Given the description of an element on the screen output the (x, y) to click on. 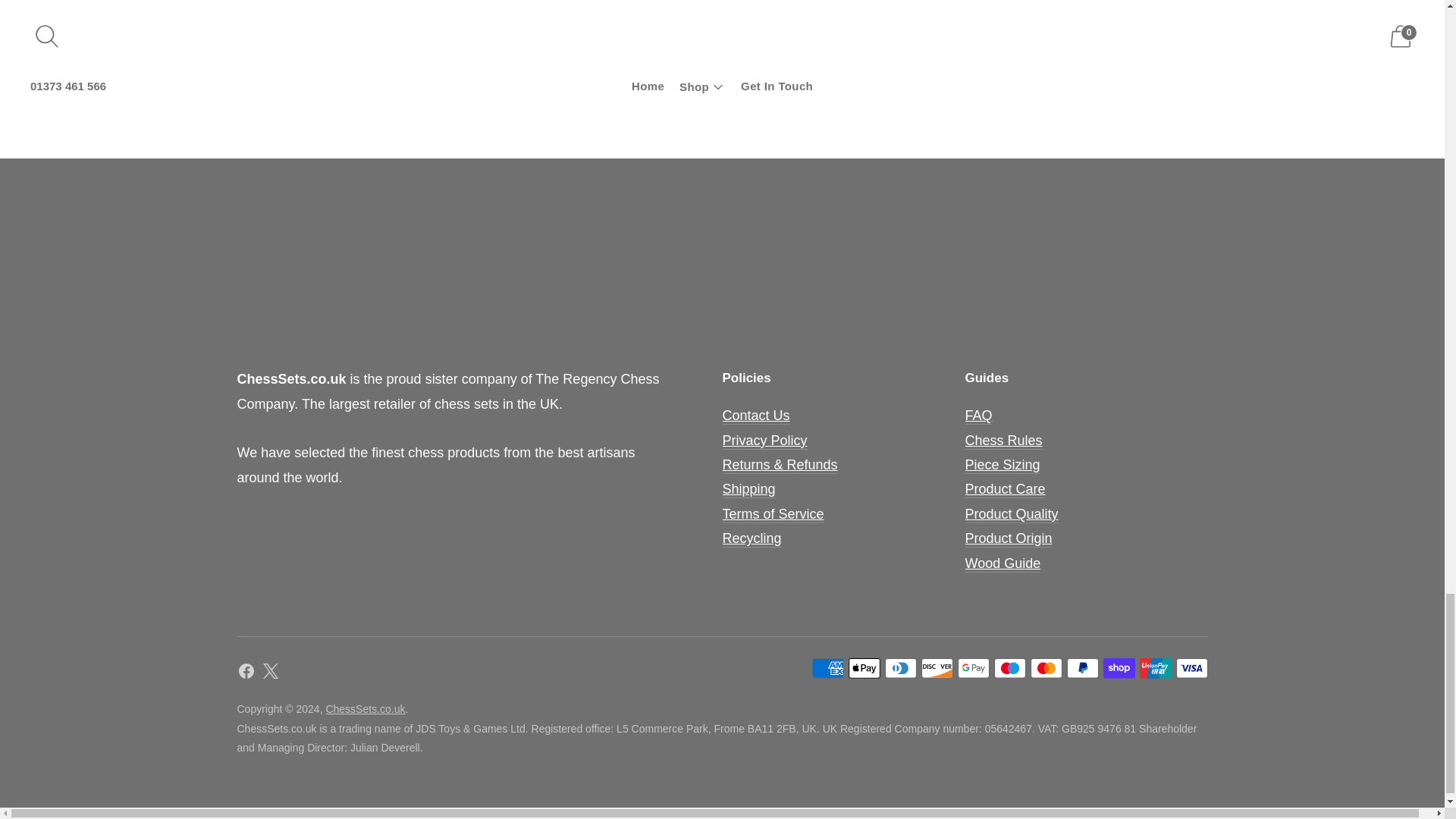
Visa (1190, 668)
Maestro (1008, 668)
PayPal (1081, 668)
American Express (826, 668)
Discover (936, 668)
Google Pay (972, 668)
Union Pay (1154, 668)
Shop Pay (1118, 668)
Apple Pay (863, 668)
Mastercard (1045, 668)
Diners Club (899, 668)
